Given the description of an element on the screen output the (x, y) to click on. 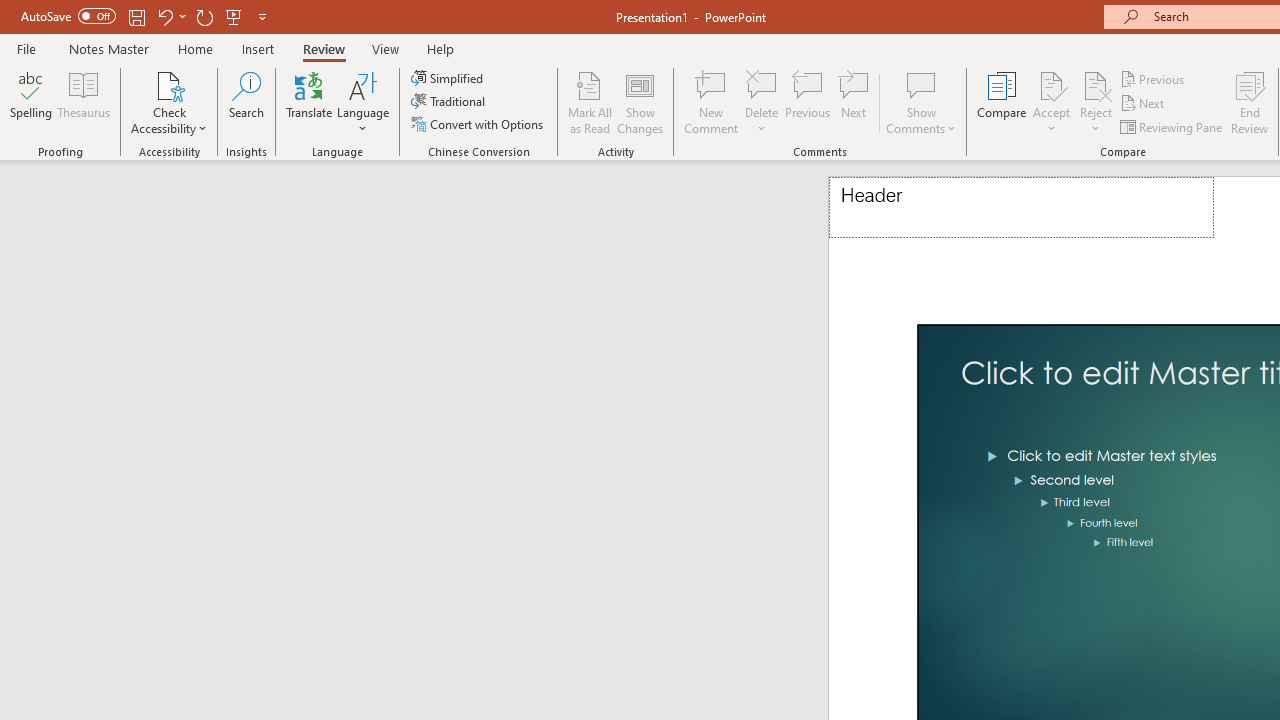
Accept Change (1051, 84)
Reviewing Pane (1172, 126)
Notes Master (108, 48)
Reject Change (1096, 84)
Show Changes (639, 102)
Reject (1096, 102)
